Given the description of an element on the screen output the (x, y) to click on. 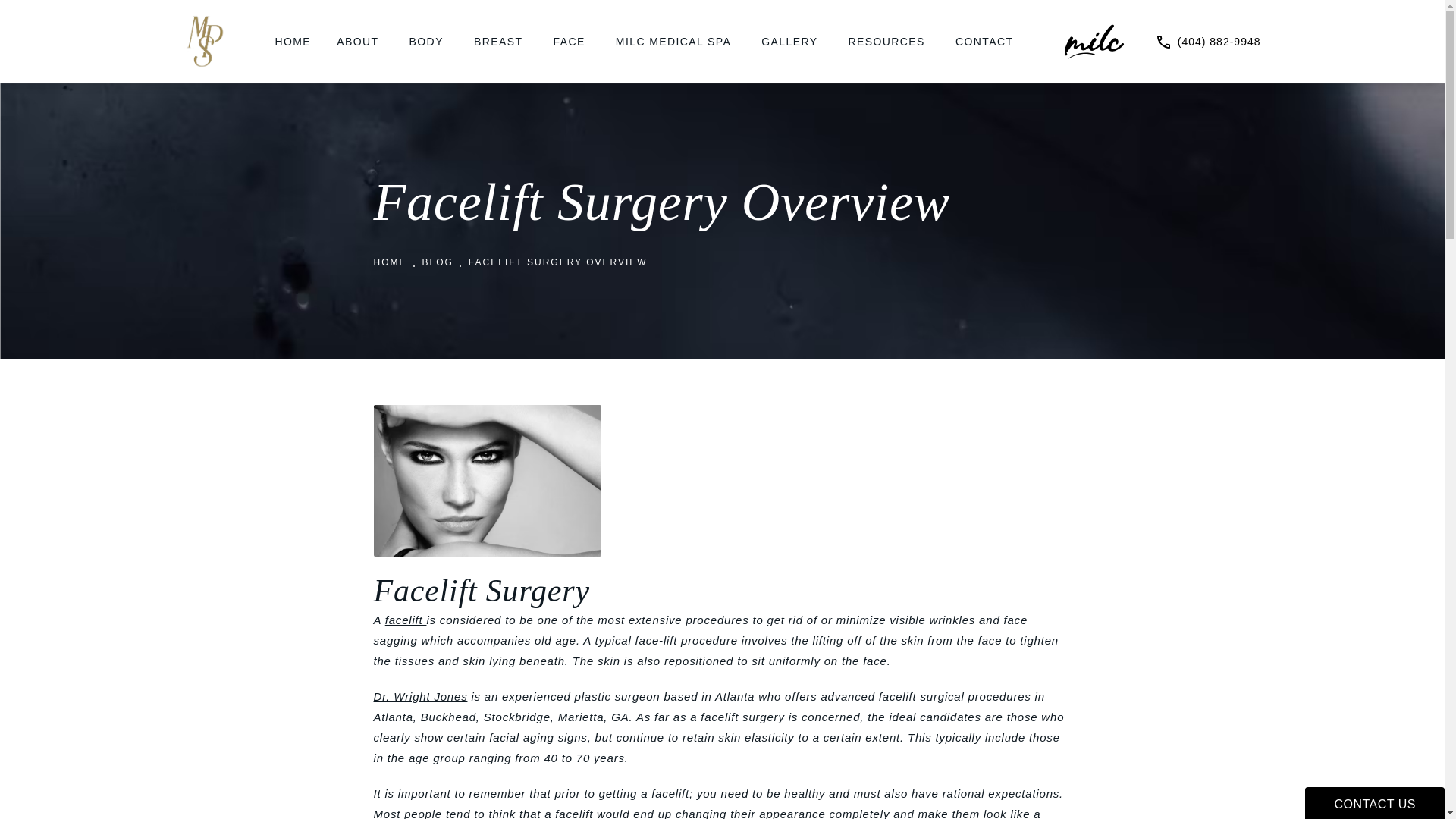
FACE (571, 41)
BREAST (499, 41)
ABOUT (359, 41)
HOME (292, 41)
BODY (428, 41)
